Given the description of an element on the screen output the (x, y) to click on. 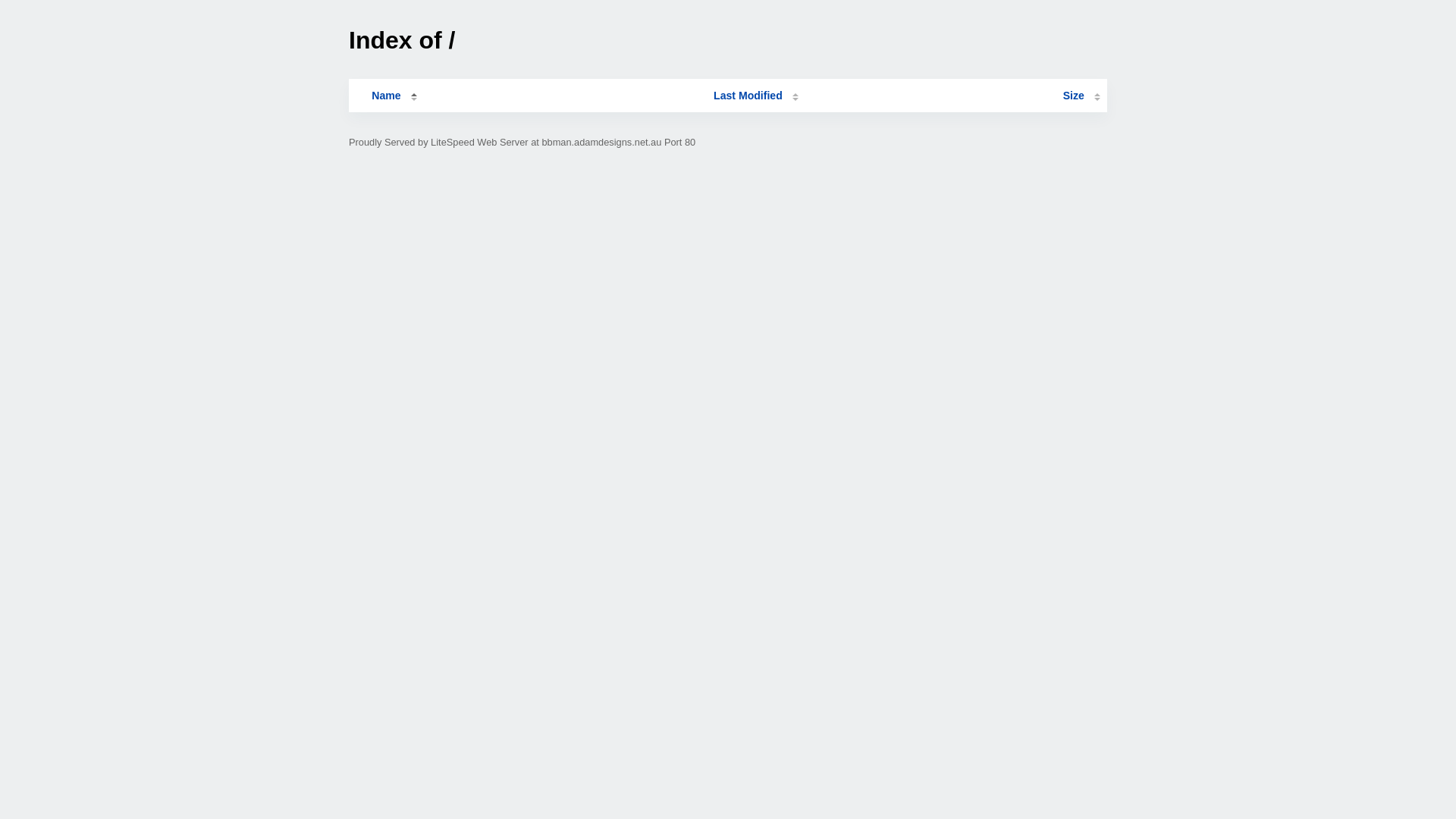
Size Element type: text (1081, 95)
Last Modified Element type: text (755, 95)
Name Element type: text (385, 95)
